Given the description of an element on the screen output the (x, y) to click on. 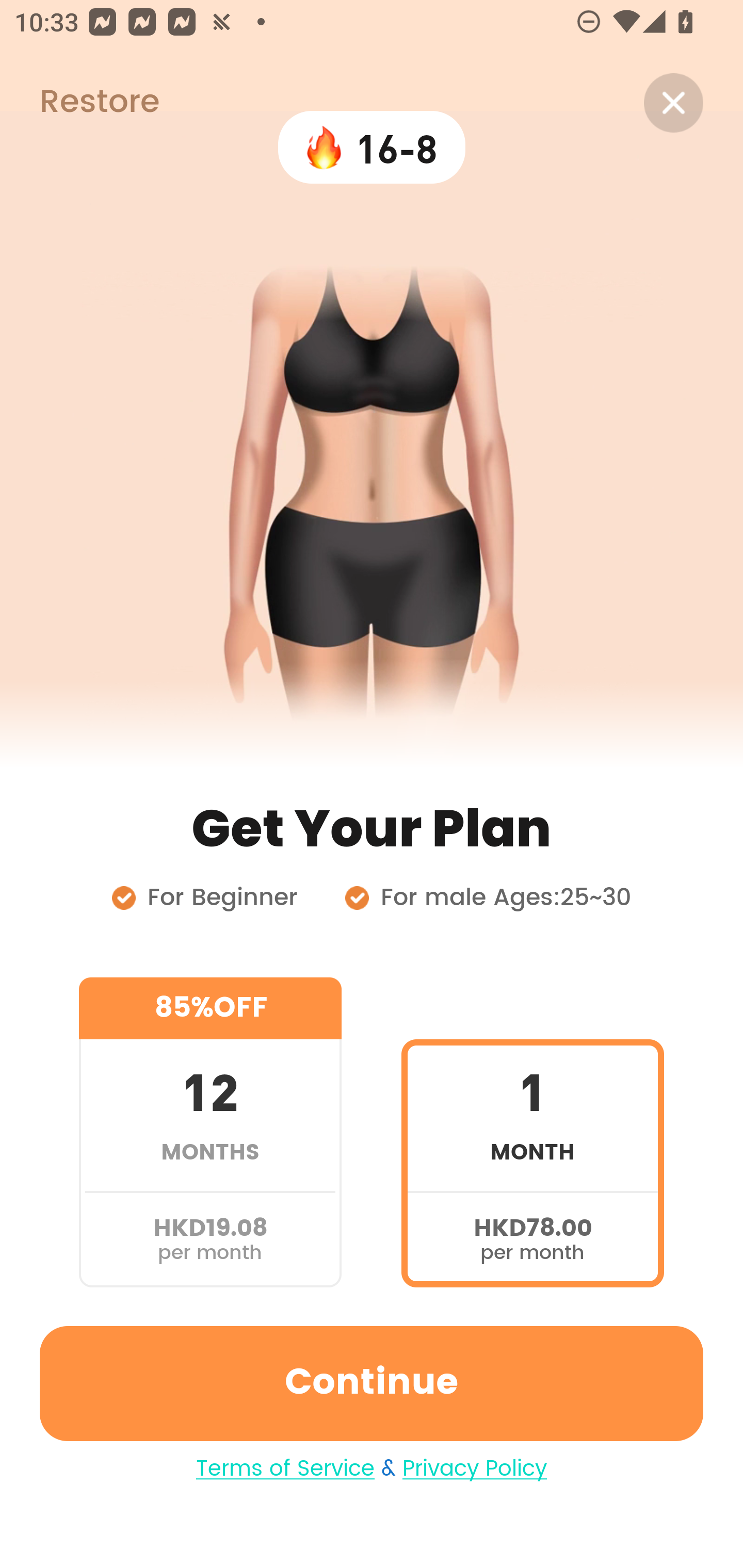
Restore (79, 102)
85%OFF 12 MONTHS per month HKD19.08 (209, 1131)
1 MONTH per month HKD78.00 (532, 1131)
Continue (371, 1383)
